Given the description of an element on the screen output the (x, y) to click on. 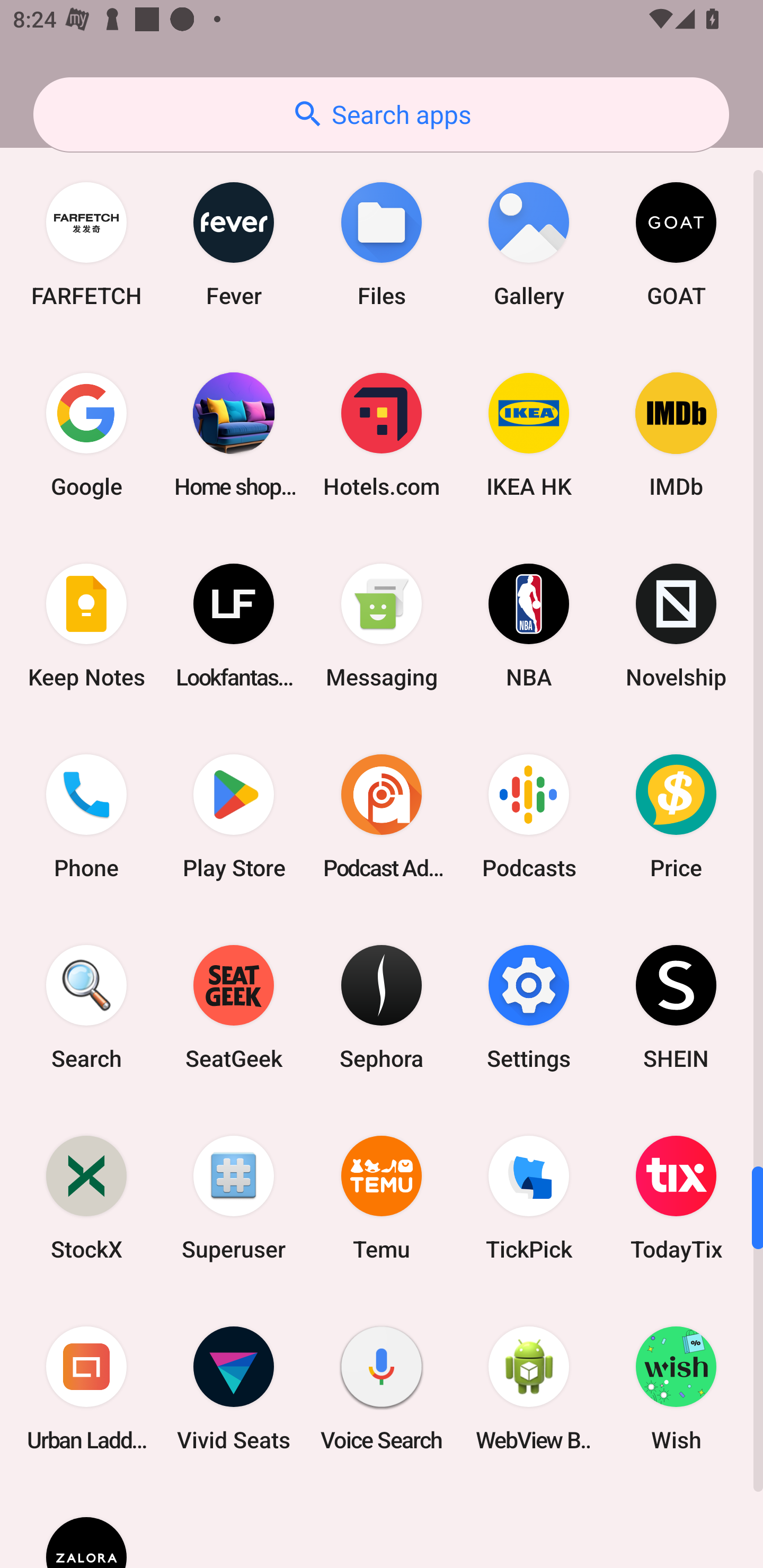
  Search apps (381, 114)
FARFETCH (86, 244)
Fever (233, 244)
Files (381, 244)
Gallery (528, 244)
GOAT (676, 244)
Google (86, 434)
Home shopping (233, 434)
Hotels.com (381, 434)
IKEA HK (528, 434)
IMDb (676, 434)
Keep Notes (86, 625)
Lookfantastic (233, 625)
Messaging (381, 625)
NBA (528, 625)
Novelship (676, 625)
Phone (86, 816)
Play Store (233, 816)
Podcast Addict (381, 816)
Podcasts (528, 816)
Price (676, 816)
Search (86, 1006)
SeatGeek (233, 1006)
Sephora (381, 1006)
Settings (528, 1006)
SHEIN (676, 1006)
StockX (86, 1197)
Superuser (233, 1197)
Temu (381, 1197)
TickPick (528, 1197)
TodayTix (676, 1197)
Urban Ladder (86, 1388)
Vivid Seats (233, 1388)
Voice Search (381, 1388)
WebView Browser Tester (528, 1388)
Wish (676, 1388)
